Given the description of an element on the screen output the (x, y) to click on. 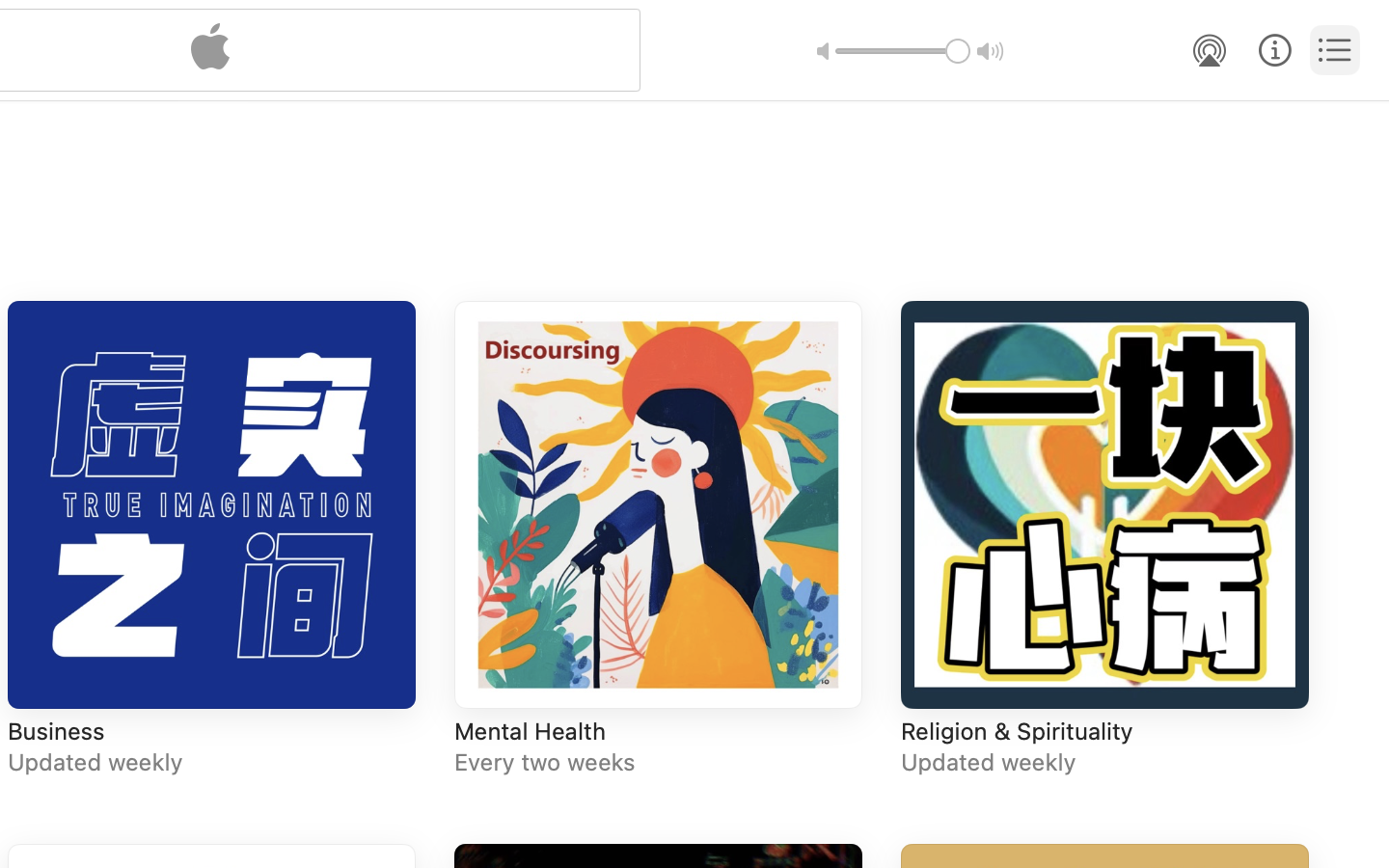
1.0 Element type: AXSlider (902, 50)
